Given the description of an element on the screen output the (x, y) to click on. 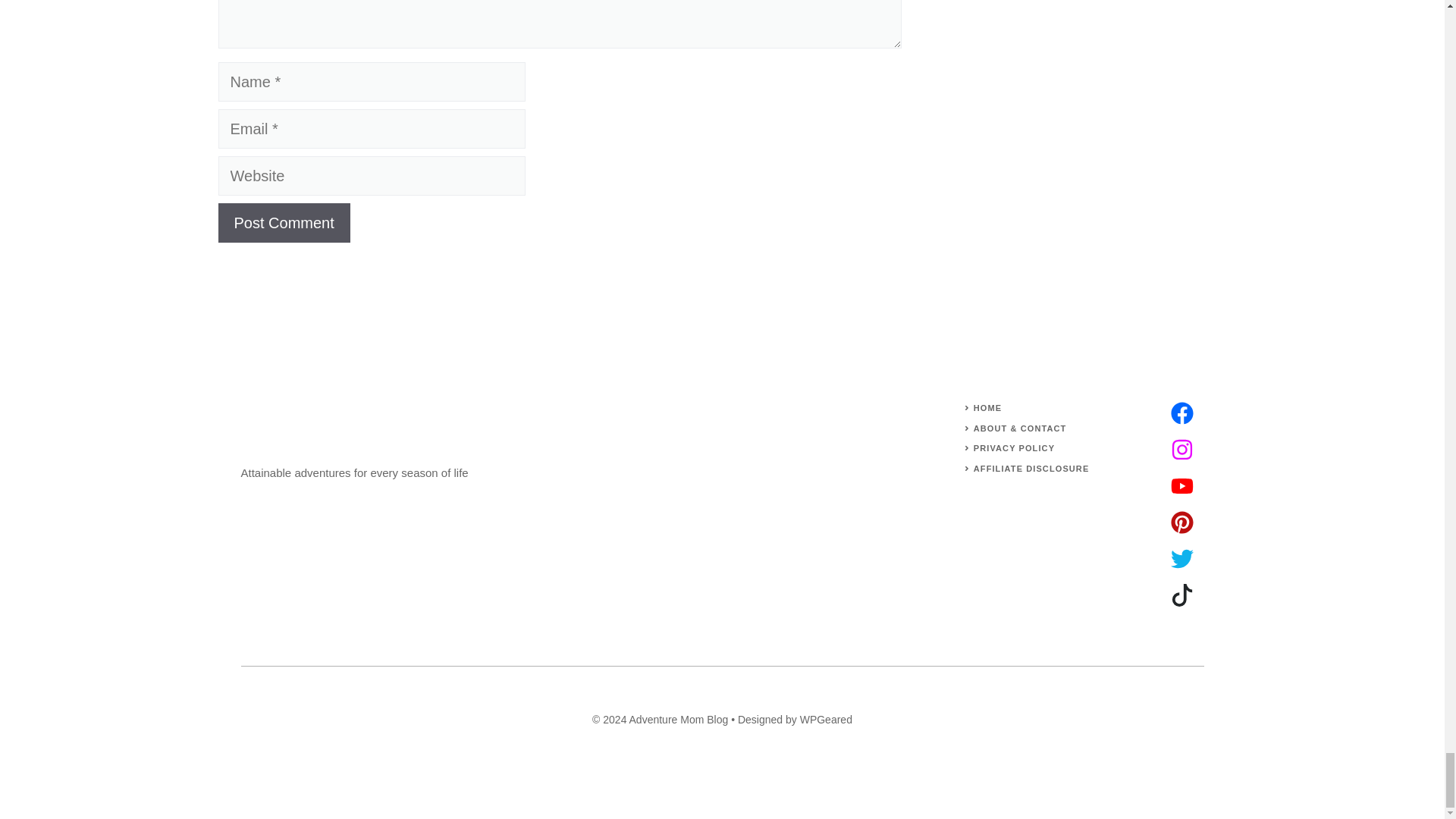
adventuremomblog-logo (298, 427)
Post Comment (284, 222)
